Given the description of an element on the screen output the (x, y) to click on. 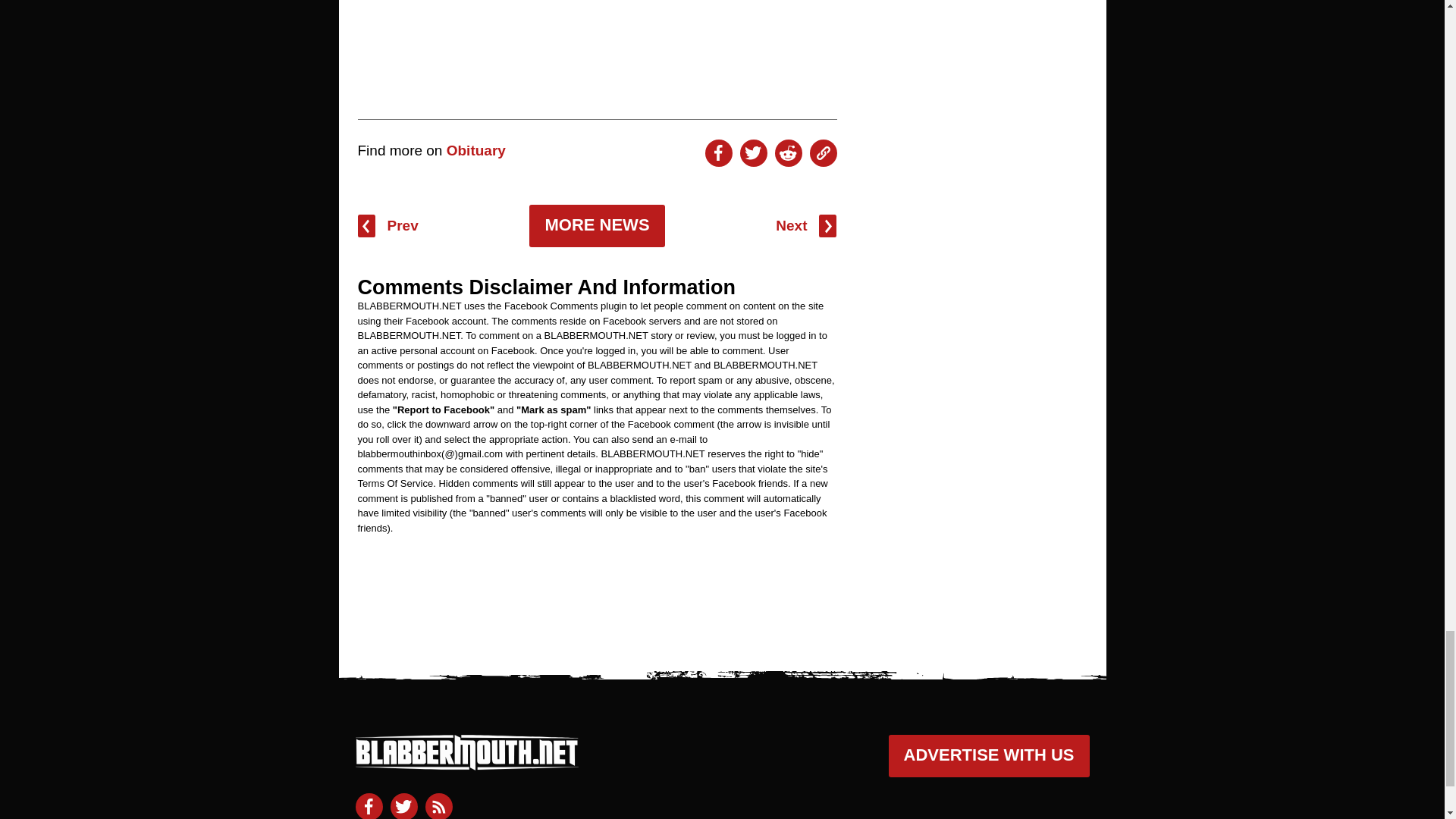
Copy To Clipboard (823, 153)
Share On Facebook (718, 153)
Prev (388, 225)
Obituary (475, 150)
Share On Twitter (753, 153)
MORE NEWS (596, 225)
Next (805, 225)
blabbermouth (466, 763)
Share On Reddit (788, 153)
